Given the description of an element on the screen output the (x, y) to click on. 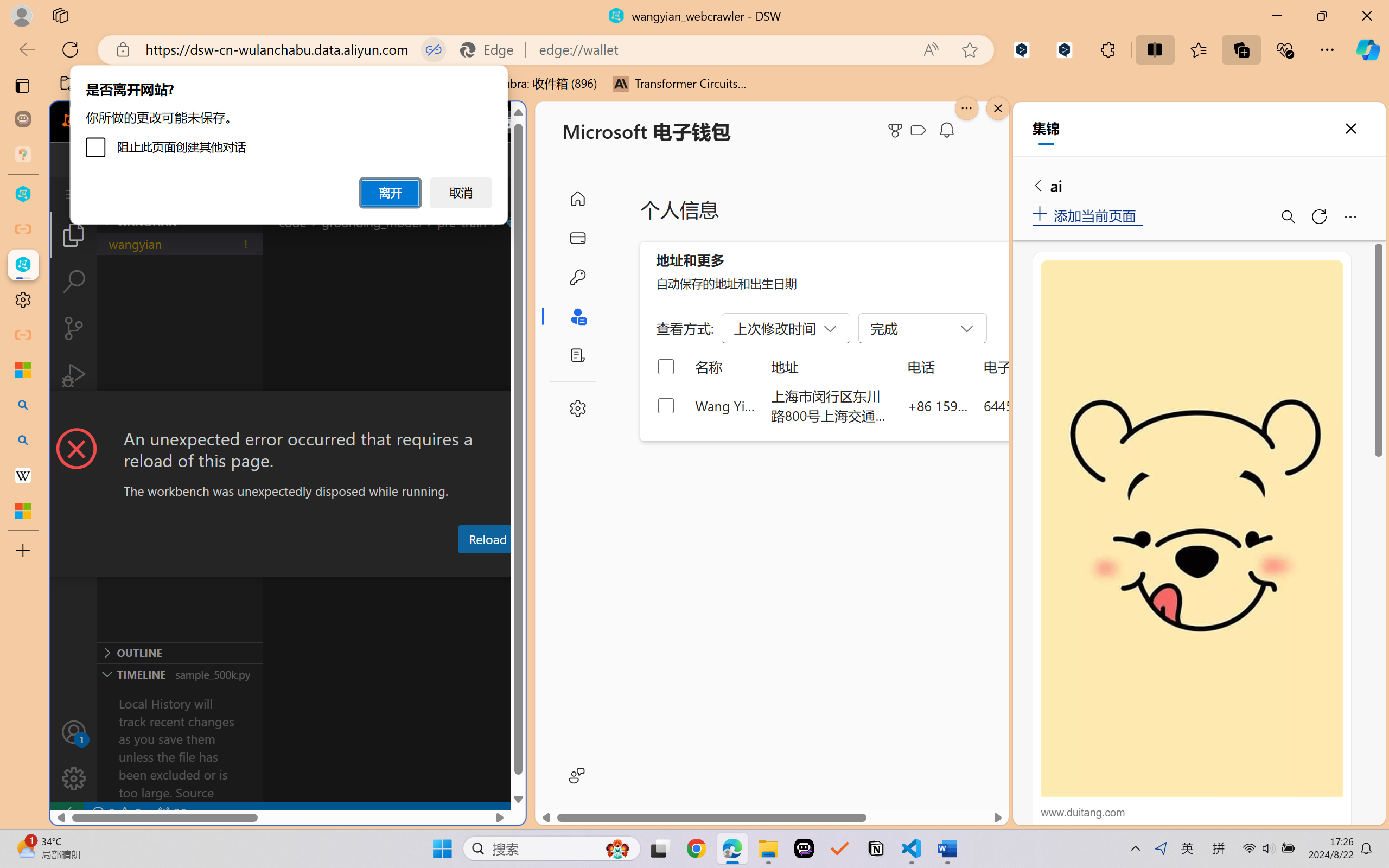
Copilot (Ctrl+Shift+.) (1368, 49)
Microsoft Cashback (920, 130)
